Given the description of an element on the screen output the (x, y) to click on. 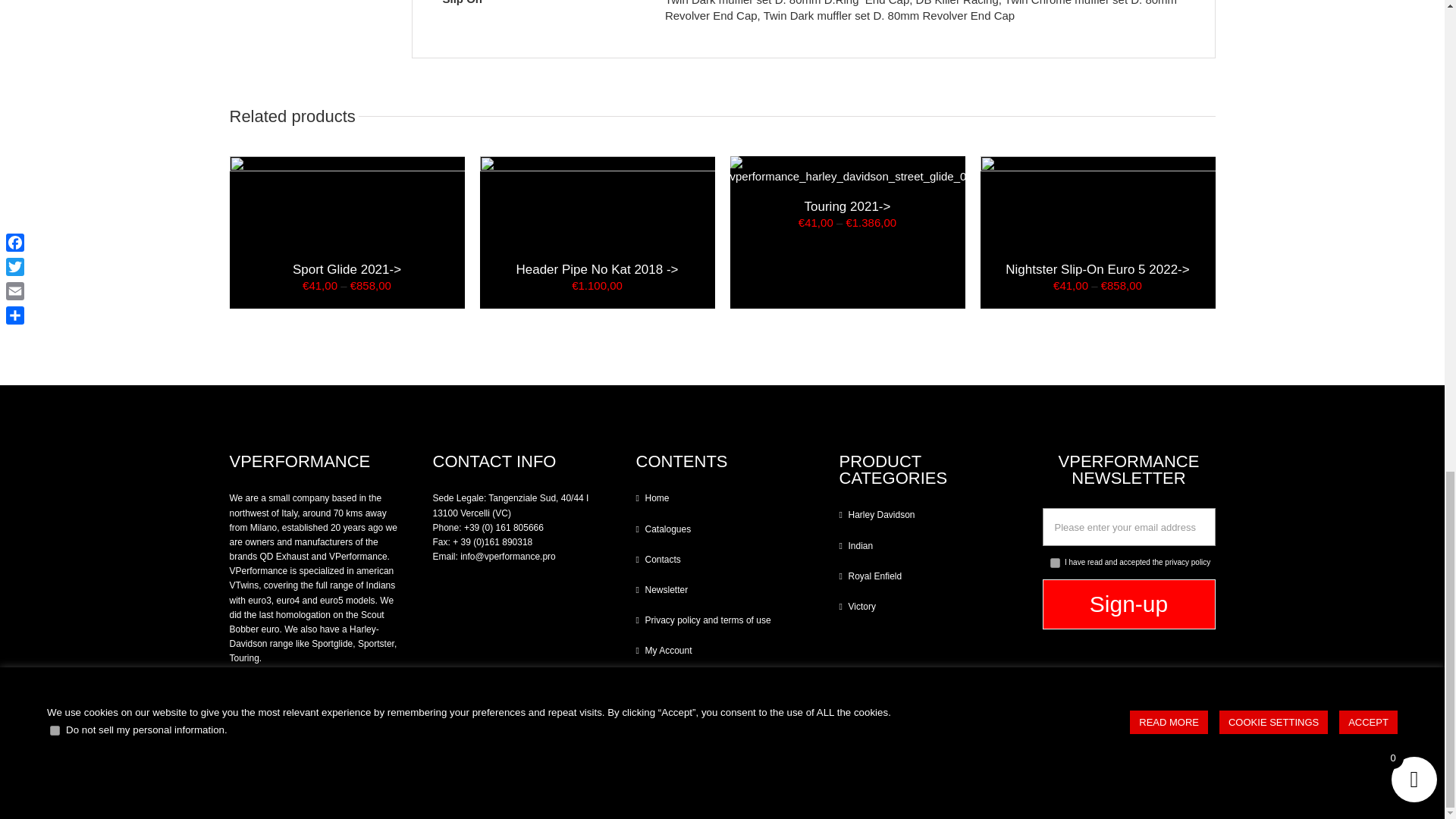
Sign-up (1128, 604)
1 (1054, 562)
